Given the description of an element on the screen output the (x, y) to click on. 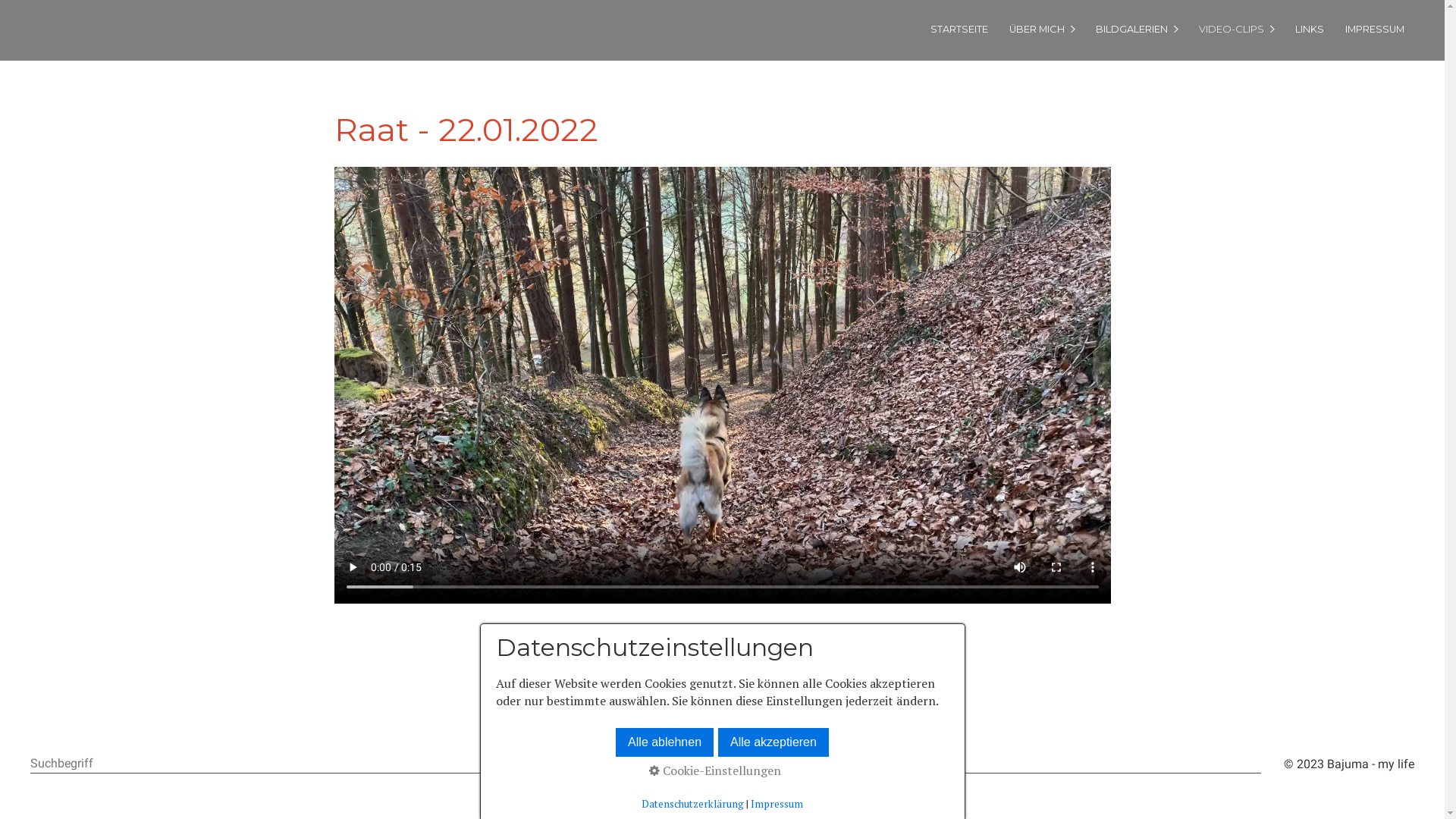
Alle ablehnen Element type: text (664, 742)
Suche Element type: hover (645, 764)
VIDEO-CLIPS Element type: text (1235, 29)
BILDGALERIEN Element type: text (1136, 29)
Cookie-Einstellungen Element type: text (714, 770)
Suchen Element type: hover (1253, 764)
Alle akzeptieren Element type: text (773, 742)
Impressum Element type: text (776, 803)
STARTSEITE Element type: text (958, 29)
IMPRESSUM Element type: text (1374, 29)
LINKS Element type: text (1308, 29)
